Given the description of an element on the screen output the (x, y) to click on. 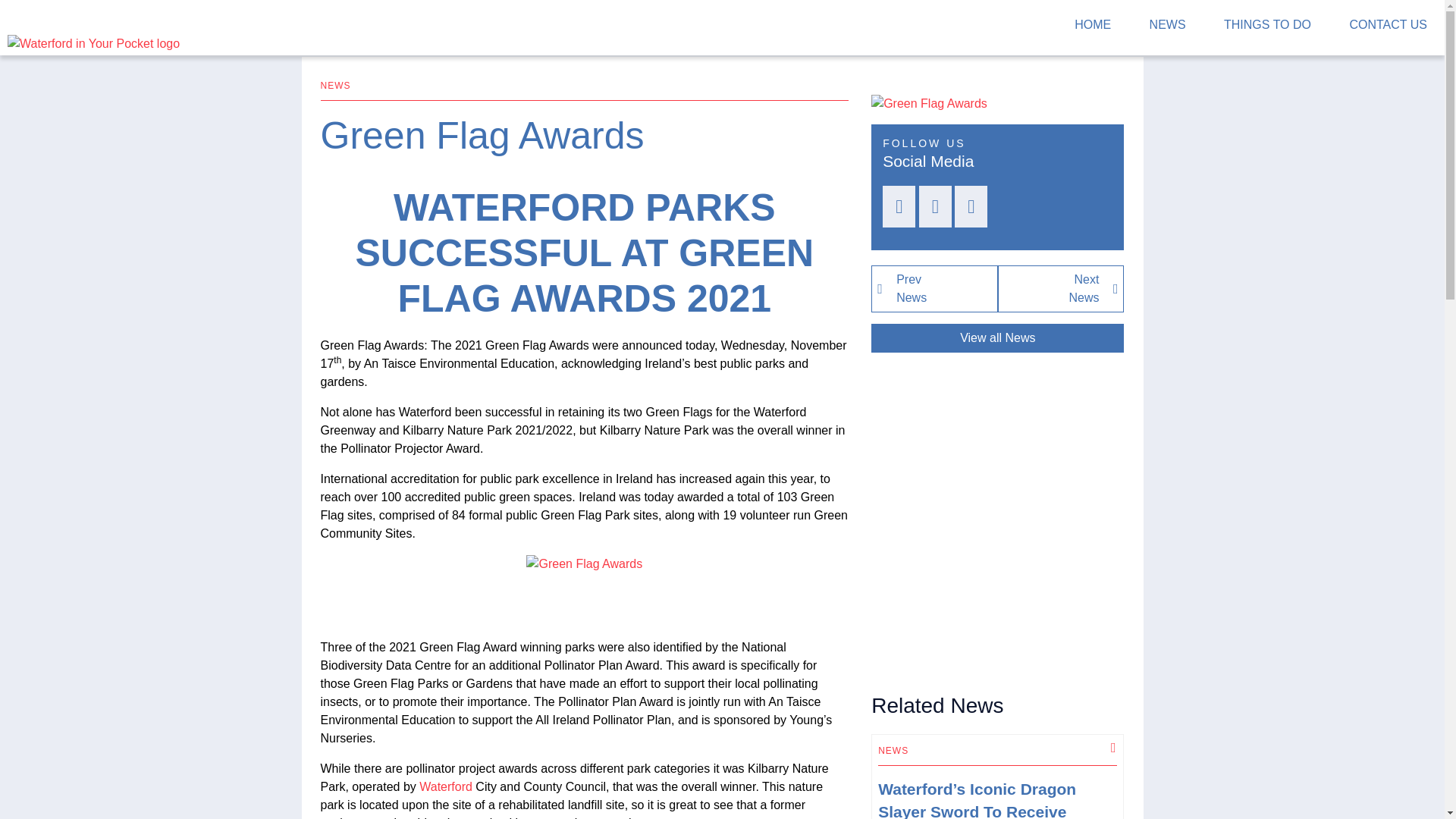
HOME (1092, 27)
THINGS TO DO (1267, 27)
Waterford (445, 785)
NEWS (335, 85)
NEWS (892, 750)
Waterford in Your Pocket logo (933, 288)
NEWS (93, 41)
View all News (1060, 288)
